Given the description of an element on the screen output the (x, y) to click on. 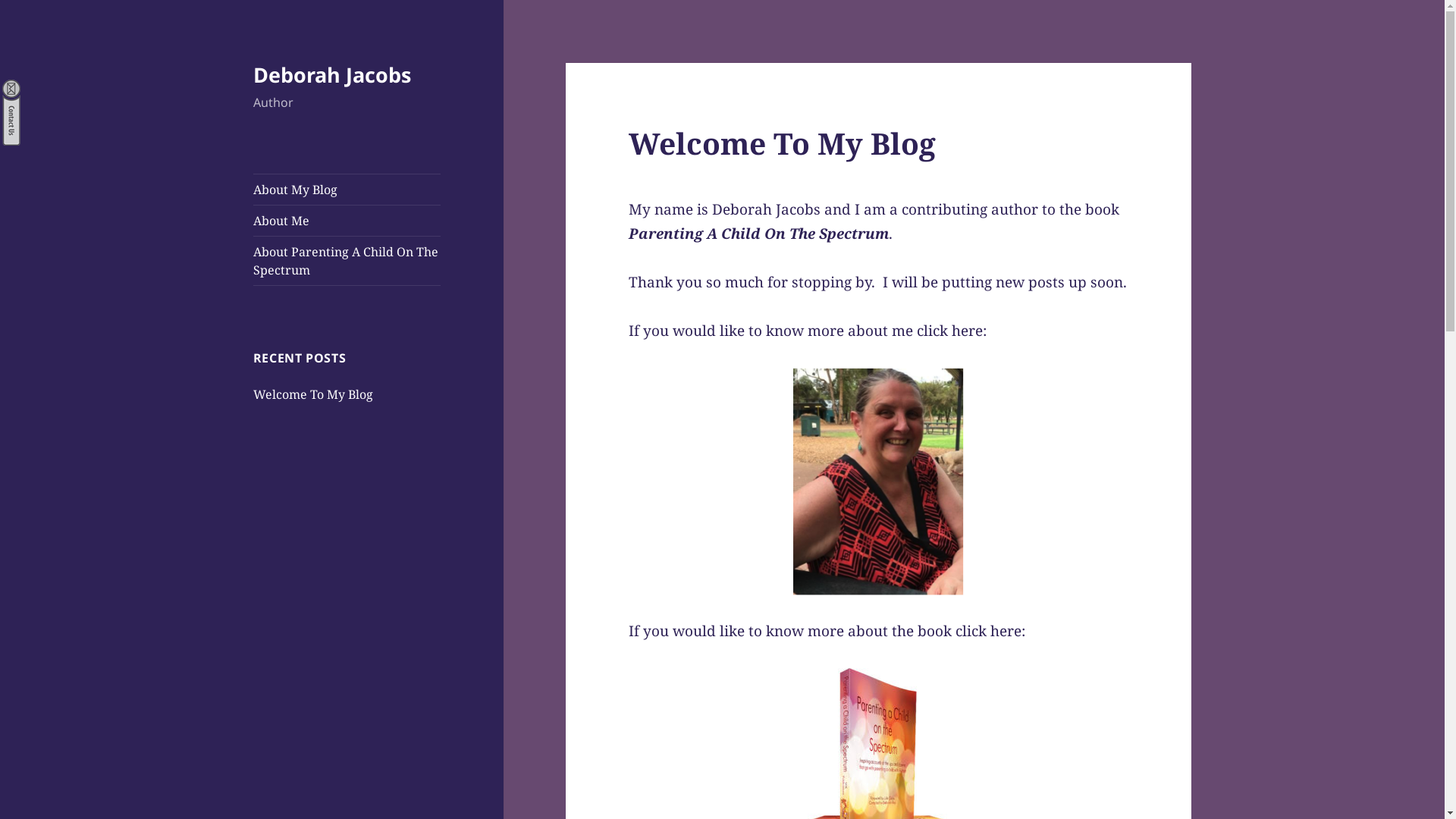
About Parenting A Child On The Spectrum Element type: text (347, 260)
Deborah Jacobs Element type: text (332, 74)
About Me Element type: text (347, 220)
About My Blog Element type: text (347, 189)
Welcome To My Blog Element type: text (313, 393)
